Given the description of an element on the screen output the (x, y) to click on. 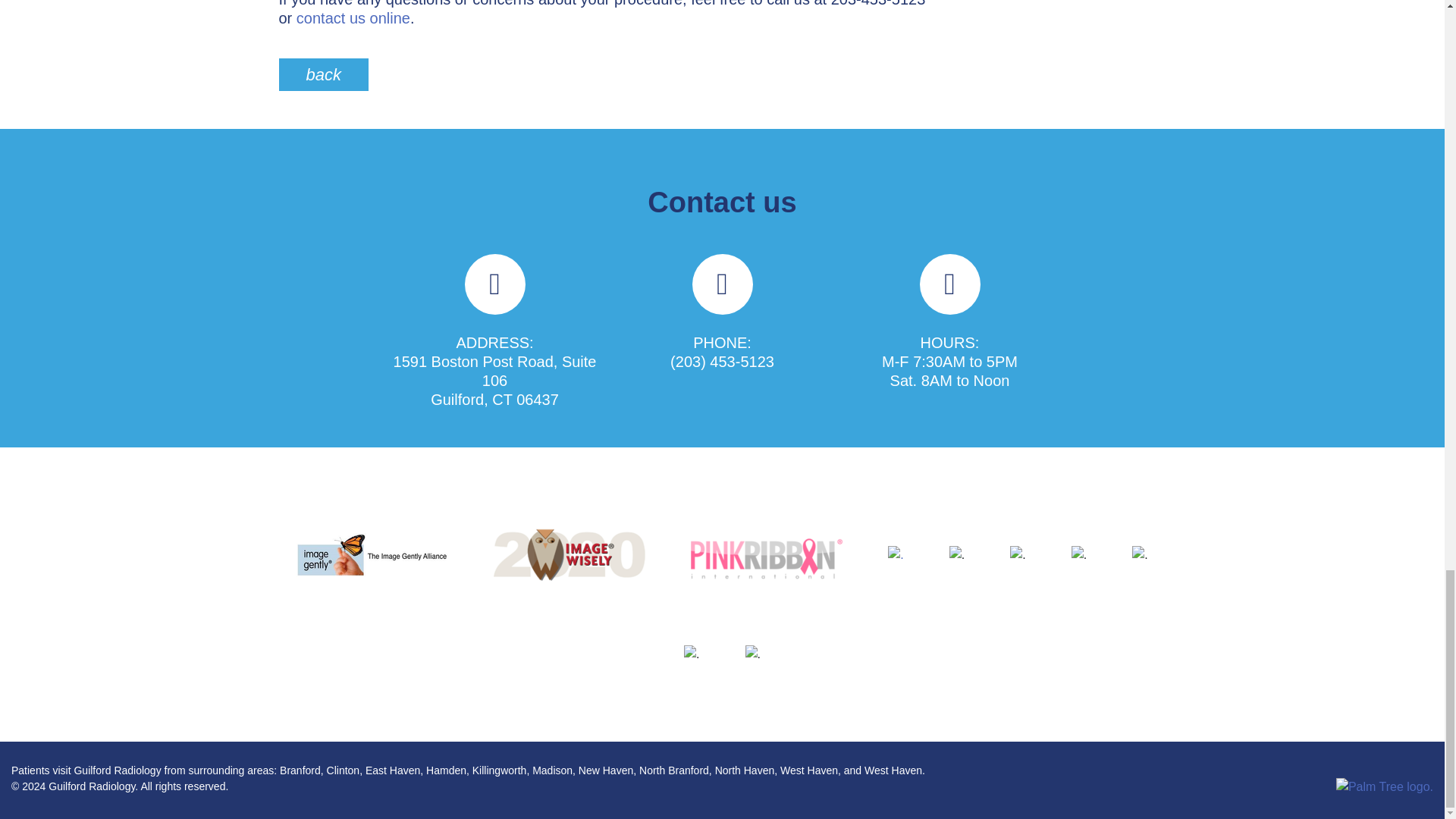
contact us online (353, 17)
Palm Tree Creative website (1384, 786)
back (323, 73)
